Given the description of an element on the screen output the (x, y) to click on. 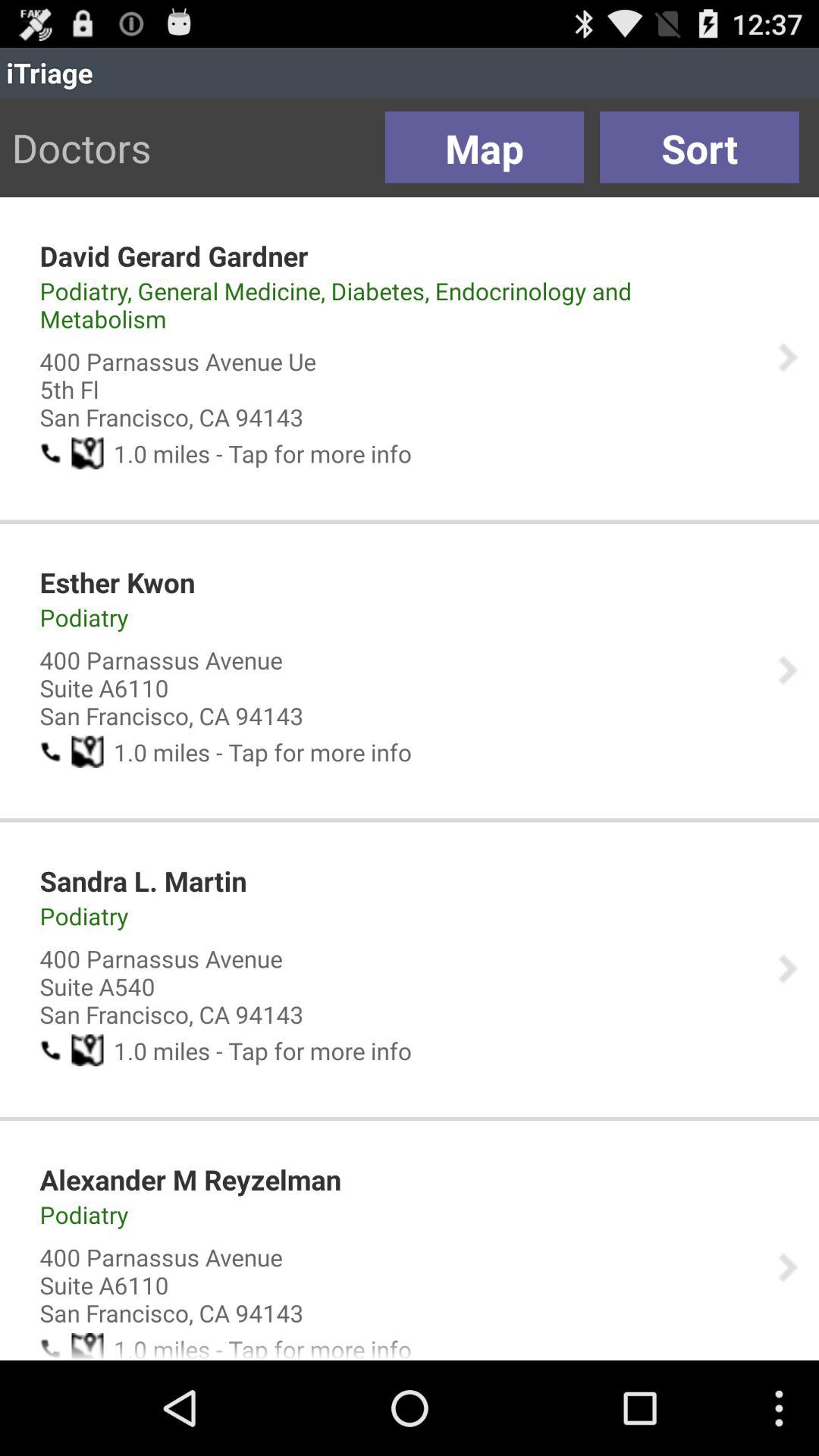
turn on the esther kwon (117, 582)
